Given the description of an element on the screen output the (x, y) to click on. 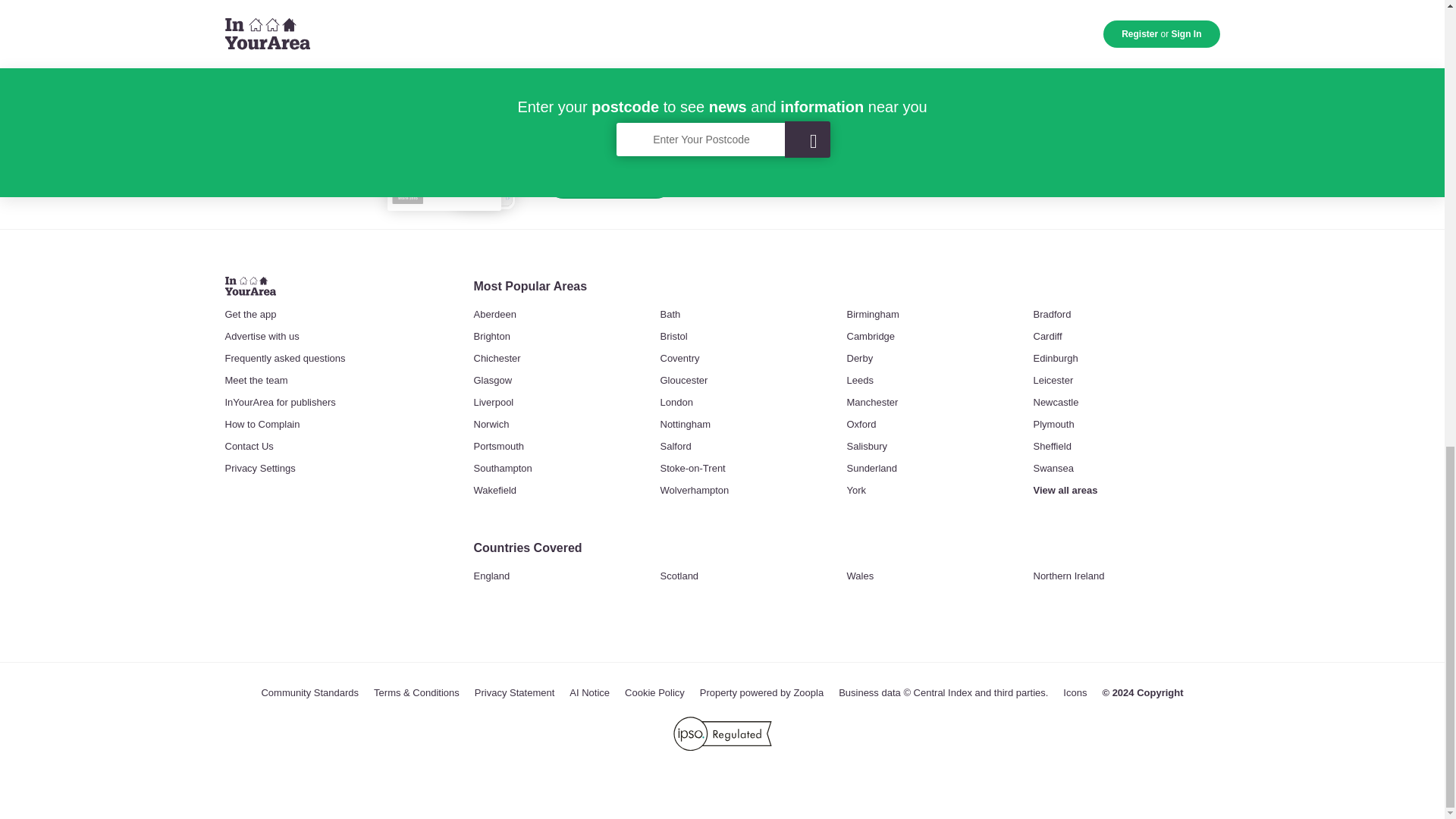
Meet the team (255, 380)
Newcastle (1055, 402)
Birmingham (871, 314)
Nottingham (684, 424)
London (676, 402)
Edinburgh (1054, 358)
Leeds (858, 380)
Bath (669, 314)
Coventry (678, 358)
Privacy Settings (259, 468)
Cardiff (1046, 336)
Advertise with us (261, 336)
Frequently asked questions (284, 358)
Chichester (496, 358)
How to Complain (261, 424)
